Given the description of an element on the screen output the (x, y) to click on. 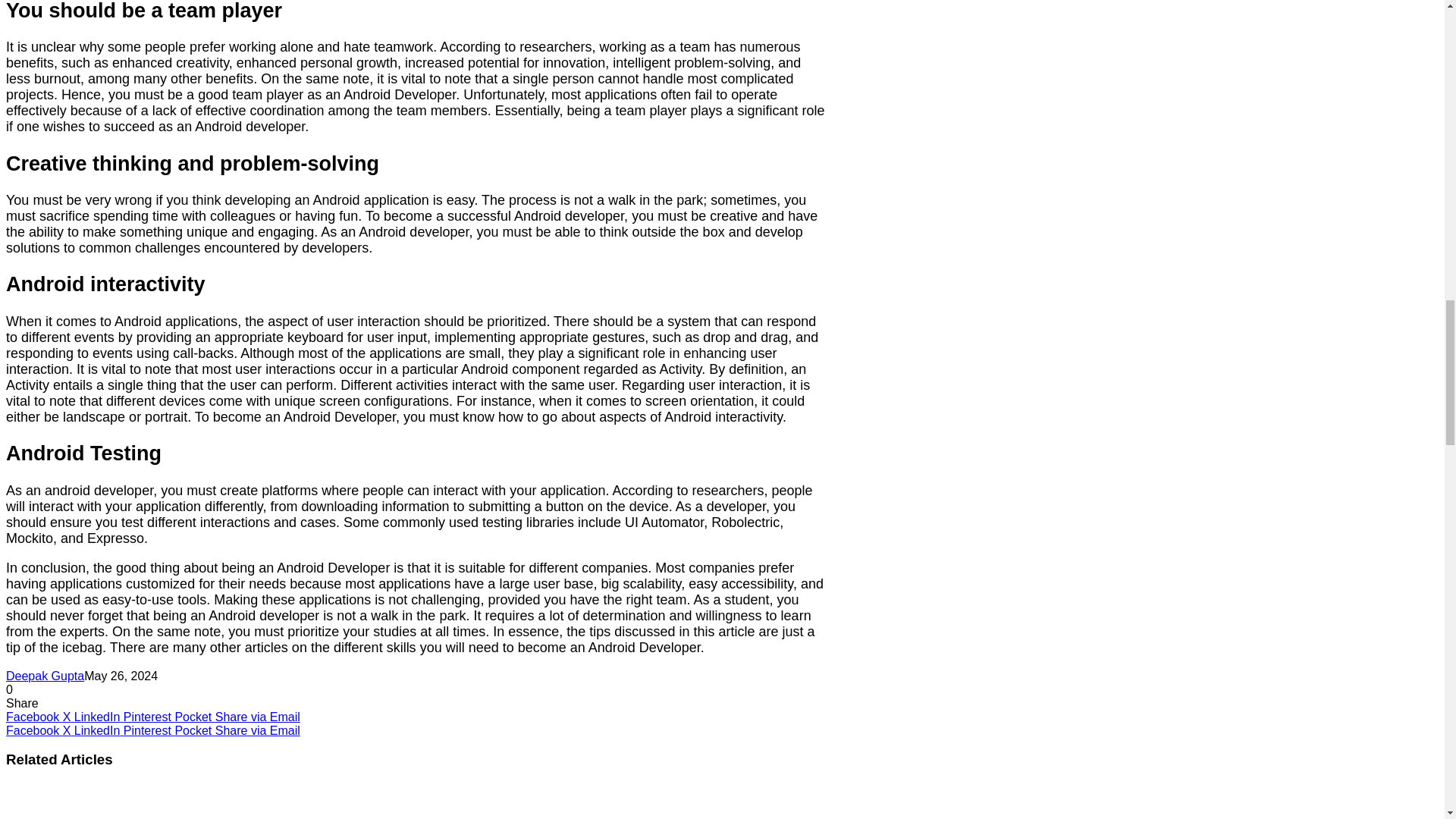
X (68, 716)
X (68, 716)
Facebook (33, 730)
Pinterest (148, 730)
LinkedIn (98, 716)
Facebook (33, 716)
X (68, 730)
LinkedIn (98, 716)
Share via Email (257, 716)
Deepak Gupta (44, 675)
Facebook (33, 716)
Pocket (194, 730)
Deepak Gupta (44, 675)
Share via Email (257, 730)
LinkedIn (98, 730)
